Given the description of an element on the screen output the (x, y) to click on. 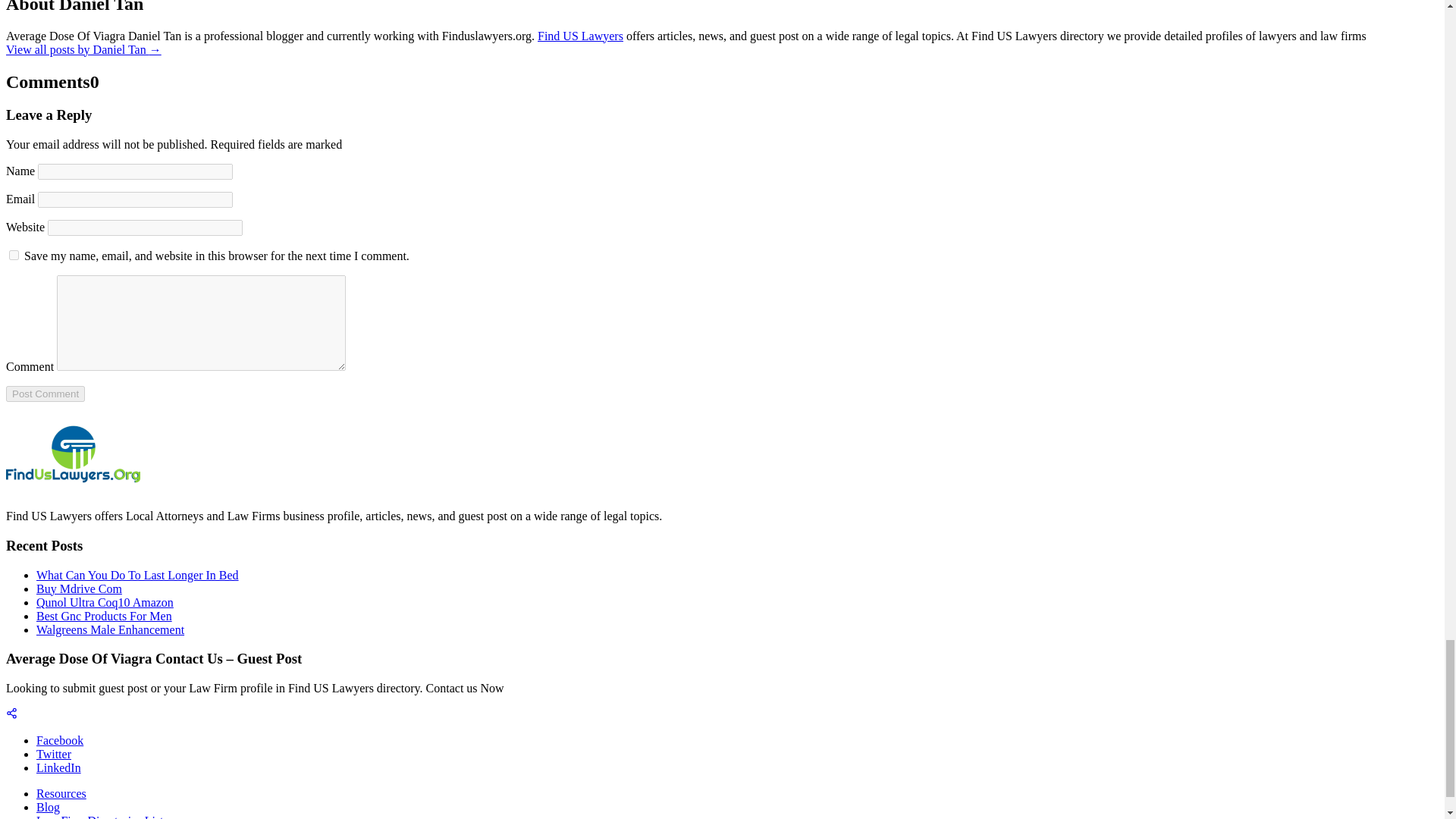
Find US Lawyers (580, 35)
yes (13, 255)
Post Comment (44, 393)
